Given the description of an element on the screen output the (x, y) to click on. 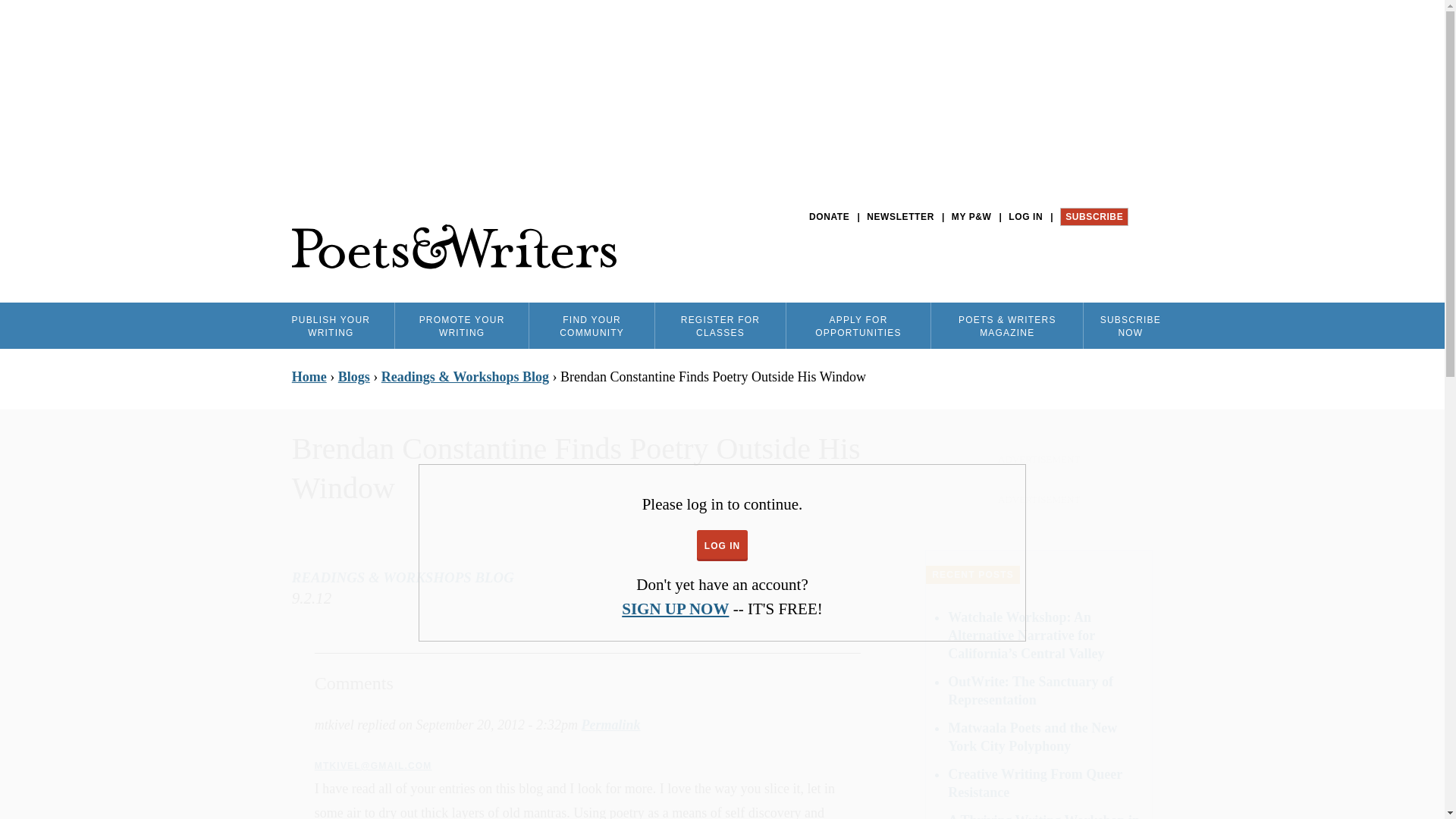
Home (453, 246)
NEWSLETTER (900, 216)
PROMOTE YOUR WRITING (461, 325)
SUBSCRIBE (1093, 217)
DONATE (828, 216)
PUBLISH YOUR WRITING (330, 325)
LOG IN (1025, 216)
Publish Your Writing (330, 325)
